Given the description of an element on the screen output the (x, y) to click on. 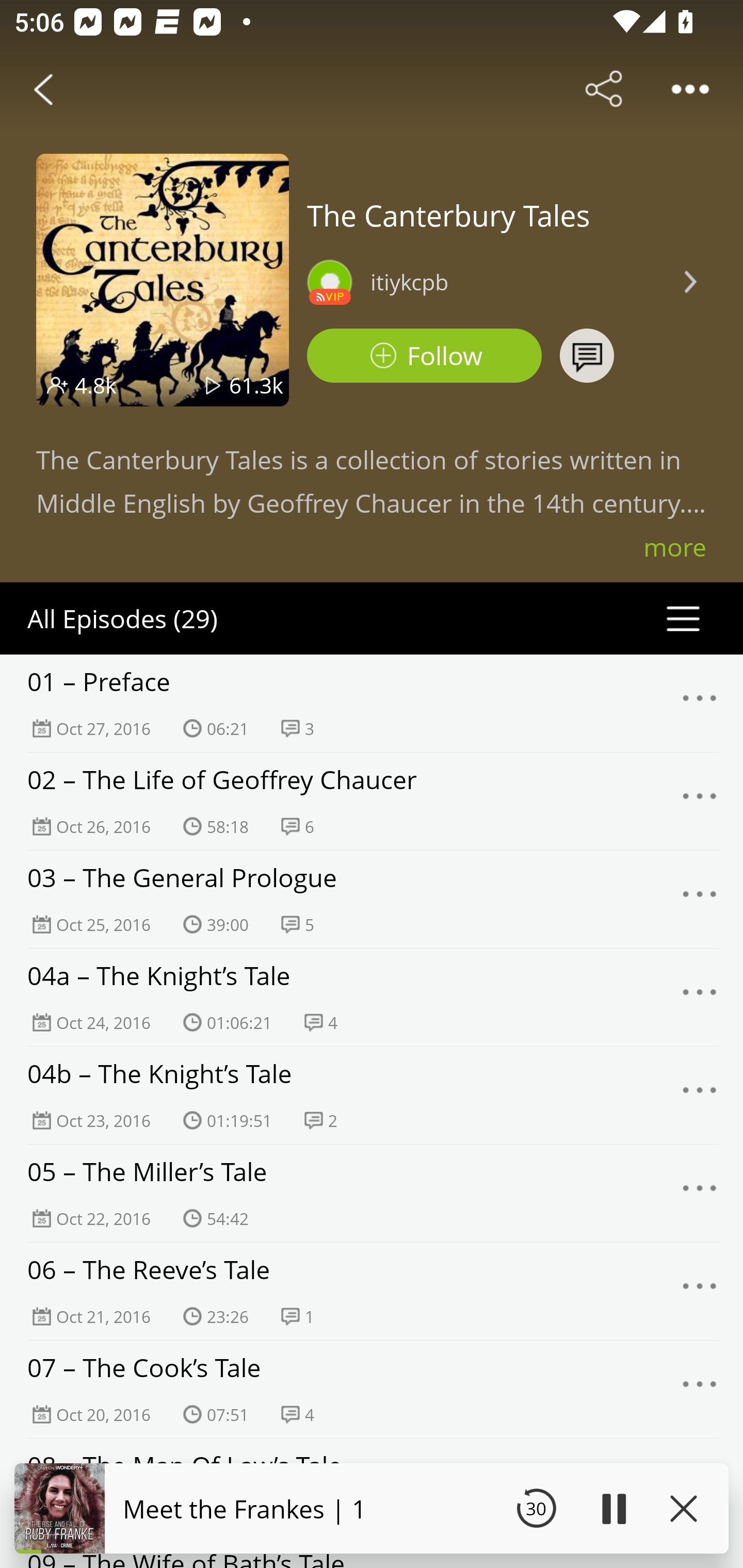
Back (43, 88)
Podbean Follow (423, 355)
4.8k (95, 384)
more (674, 546)
01 – Preface Oct 27, 2016 06:21 3 Menu (371, 702)
Menu (699, 703)
Menu (699, 801)
Menu (699, 899)
Menu (699, 997)
Menu (699, 1095)
05 – The Miller’s Tale Oct 22, 2016 54:42 Menu (371, 1192)
Menu (699, 1193)
06 – The Reeve’s Tale Oct 21, 2016 23:26 1 Menu (371, 1290)
Menu (699, 1291)
07 – The Cook’s Tale Oct 20, 2016 07:51 4 Menu (371, 1388)
Menu (699, 1389)
Menu (699, 1487)
Meet the Frankes | 1 30 Seek Backward 81936.0 Play (371, 1508)
Play (613, 1507)
30 Seek Backward (536, 1508)
